Given the description of an element on the screen output the (x, y) to click on. 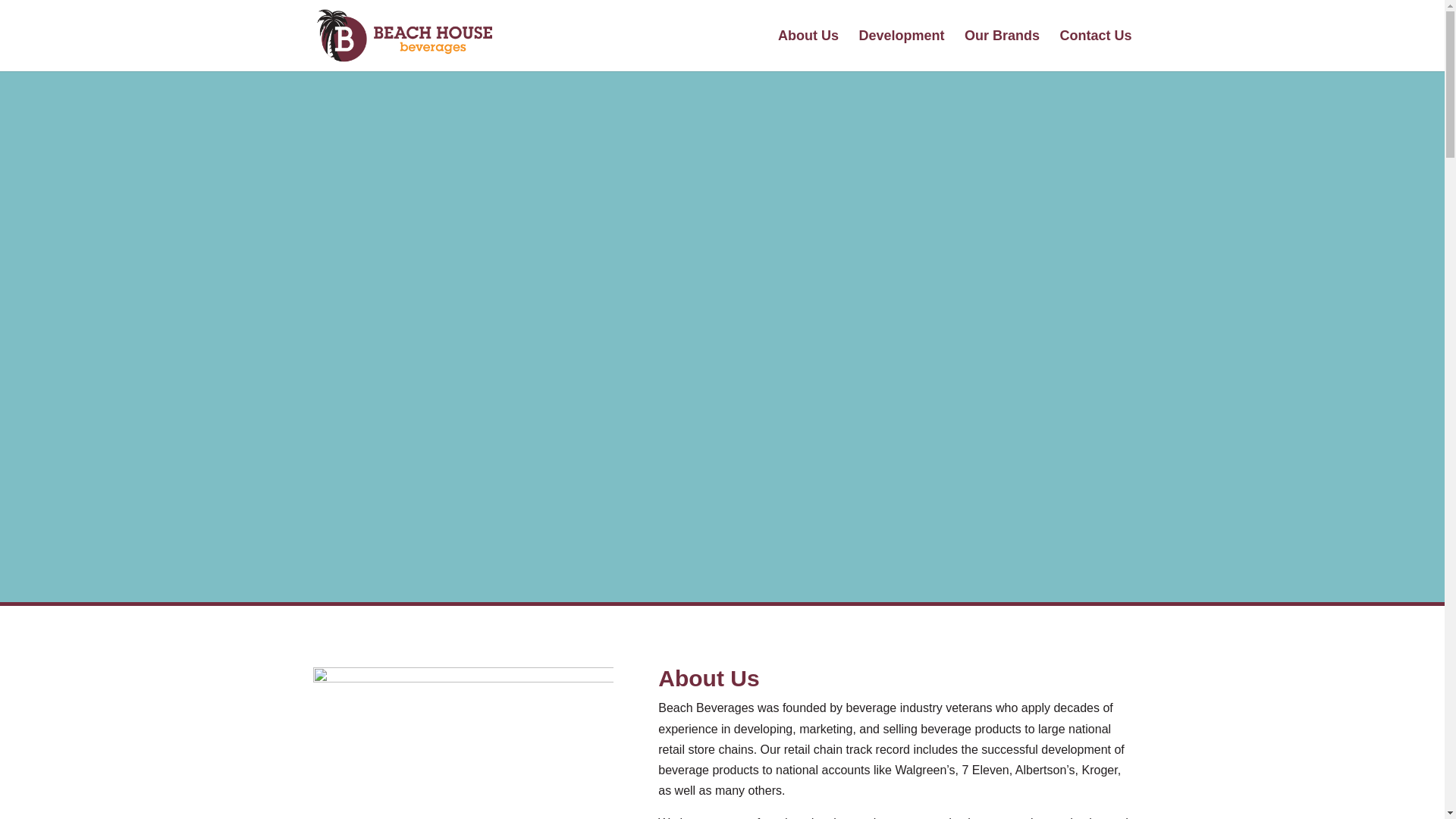
Contact Us (1095, 50)
Development (901, 50)
Our Brands (1001, 50)
About Us (807, 50)
